Given the description of an element on the screen output the (x, y) to click on. 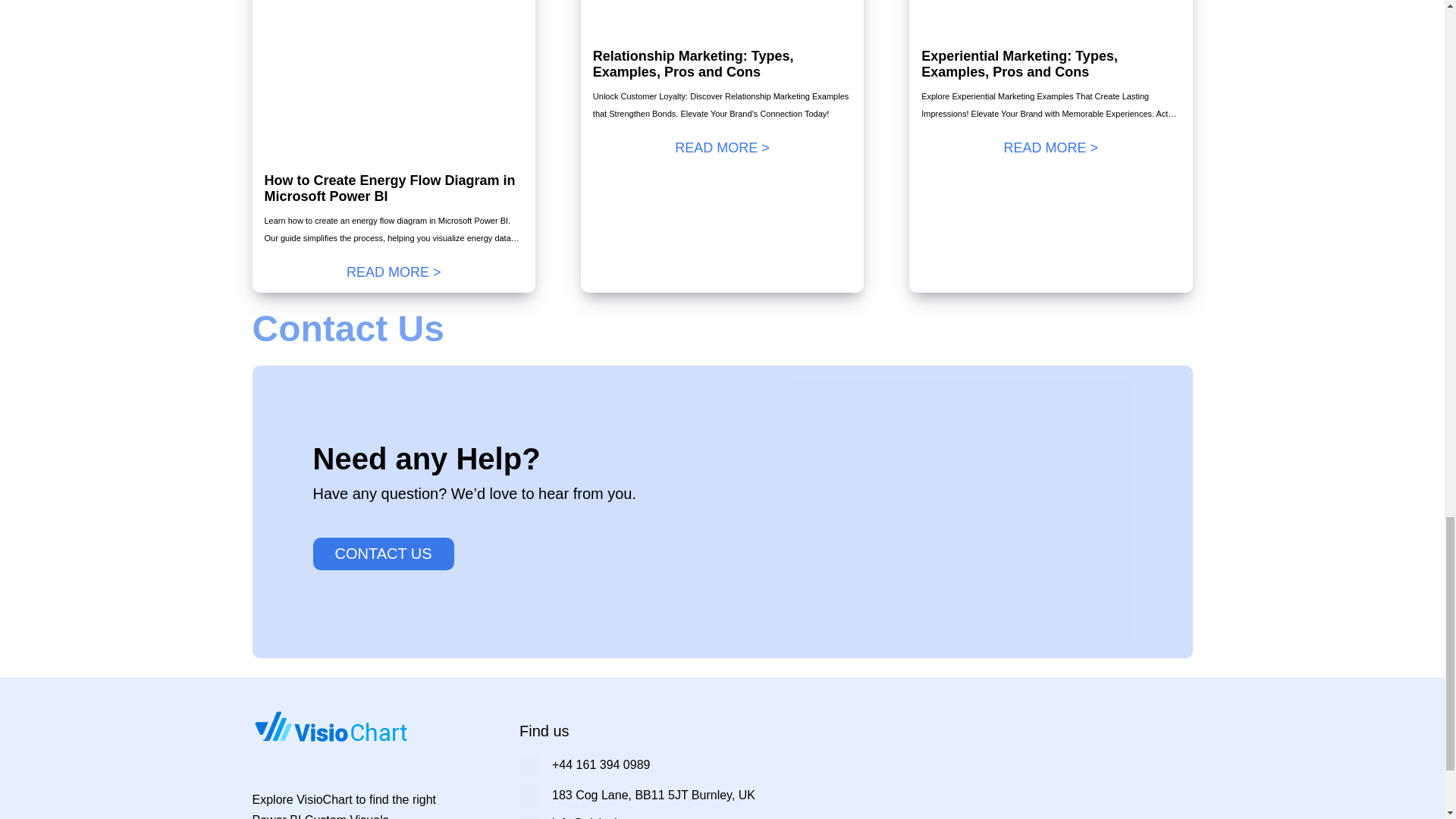
CONTACT US (382, 553)
CONTACT US (382, 553)
183 Cog Lane, BB11 5JT Burnley, UK (653, 795)
